Given the description of an element on the screen output the (x, y) to click on. 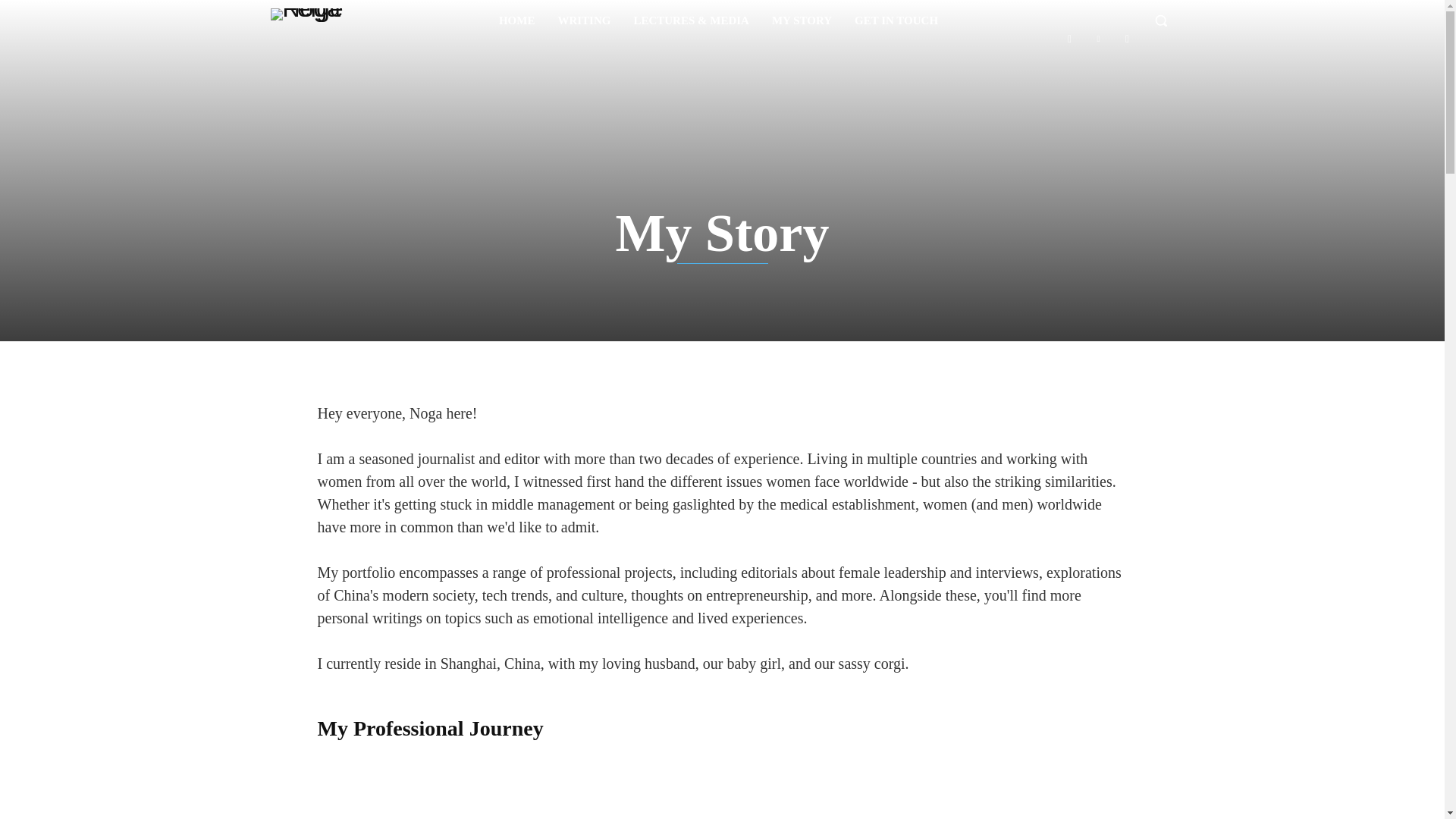
HOME (517, 20)
MY STORY (802, 20)
Mail-1 (1069, 38)
WRITING (583, 20)
Instagram (1126, 38)
Noga Feige (326, 19)
Linkedin (1097, 38)
GET IN TOUCH (895, 20)
